Given the description of an element on the screen output the (x, y) to click on. 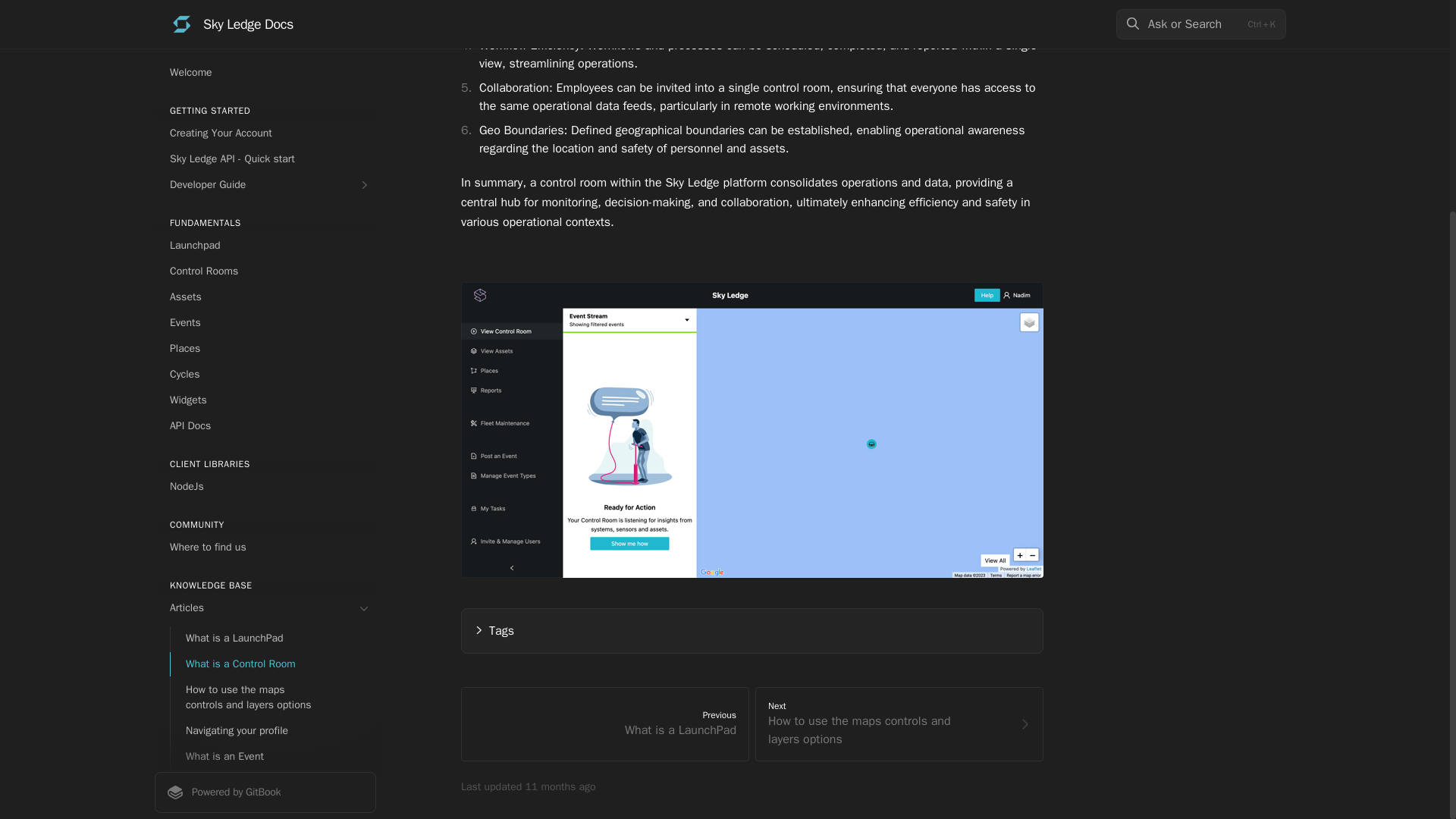
Articles (264, 322)
What is a Control Room (272, 378)
What is an Event Type (272, 497)
Exploring the event stream (272, 523)
Cycles (264, 88)
NodeJs (264, 201)
Assets (264, 12)
What are asset types (272, 600)
Table column selection (272, 677)
What is a LaunchPad (272, 353)
